Given the description of an element on the screen output the (x, y) to click on. 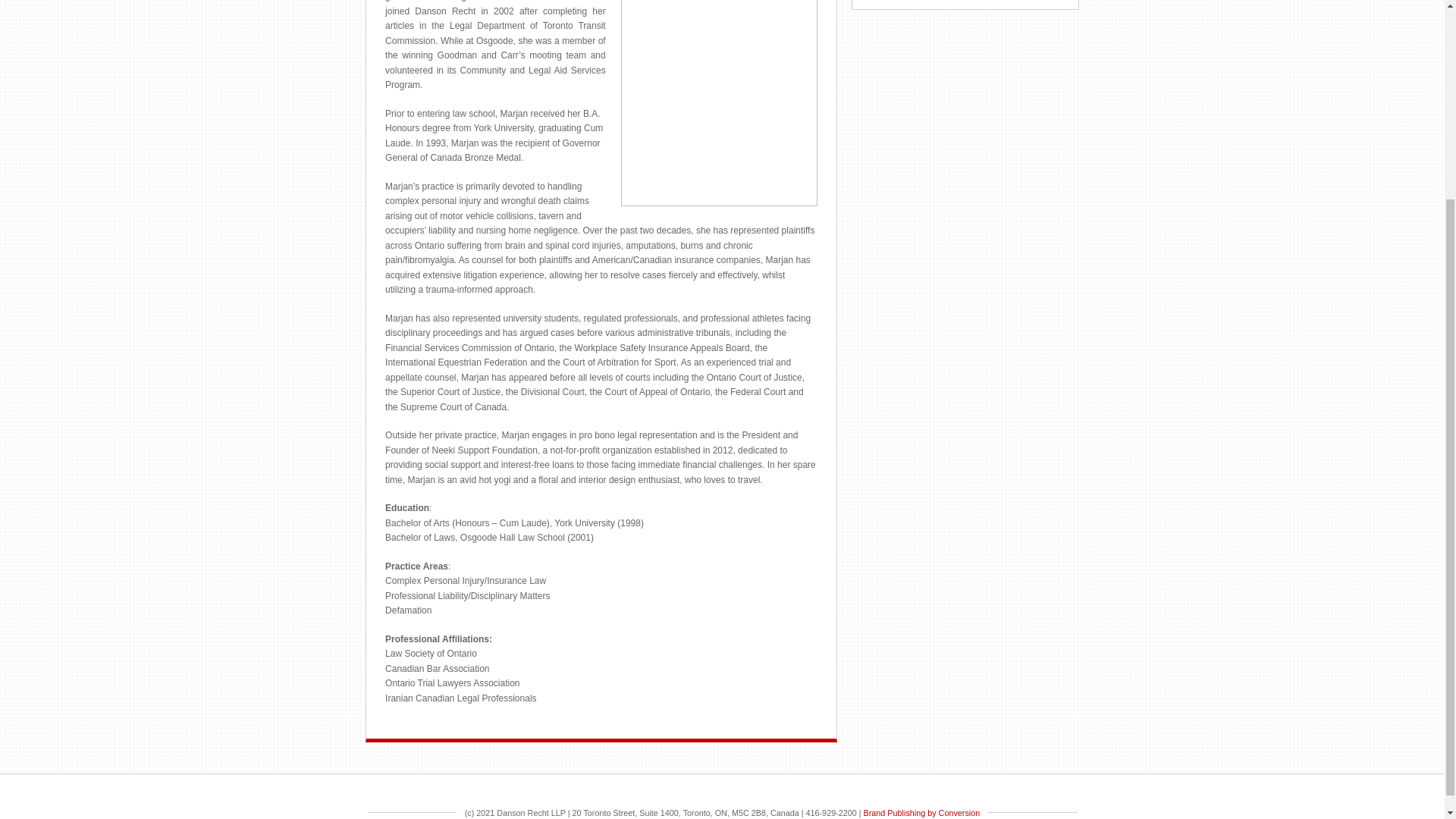
Brand Publishing by Conversion (921, 812)
